Given the description of an element on the screen output the (x, y) to click on. 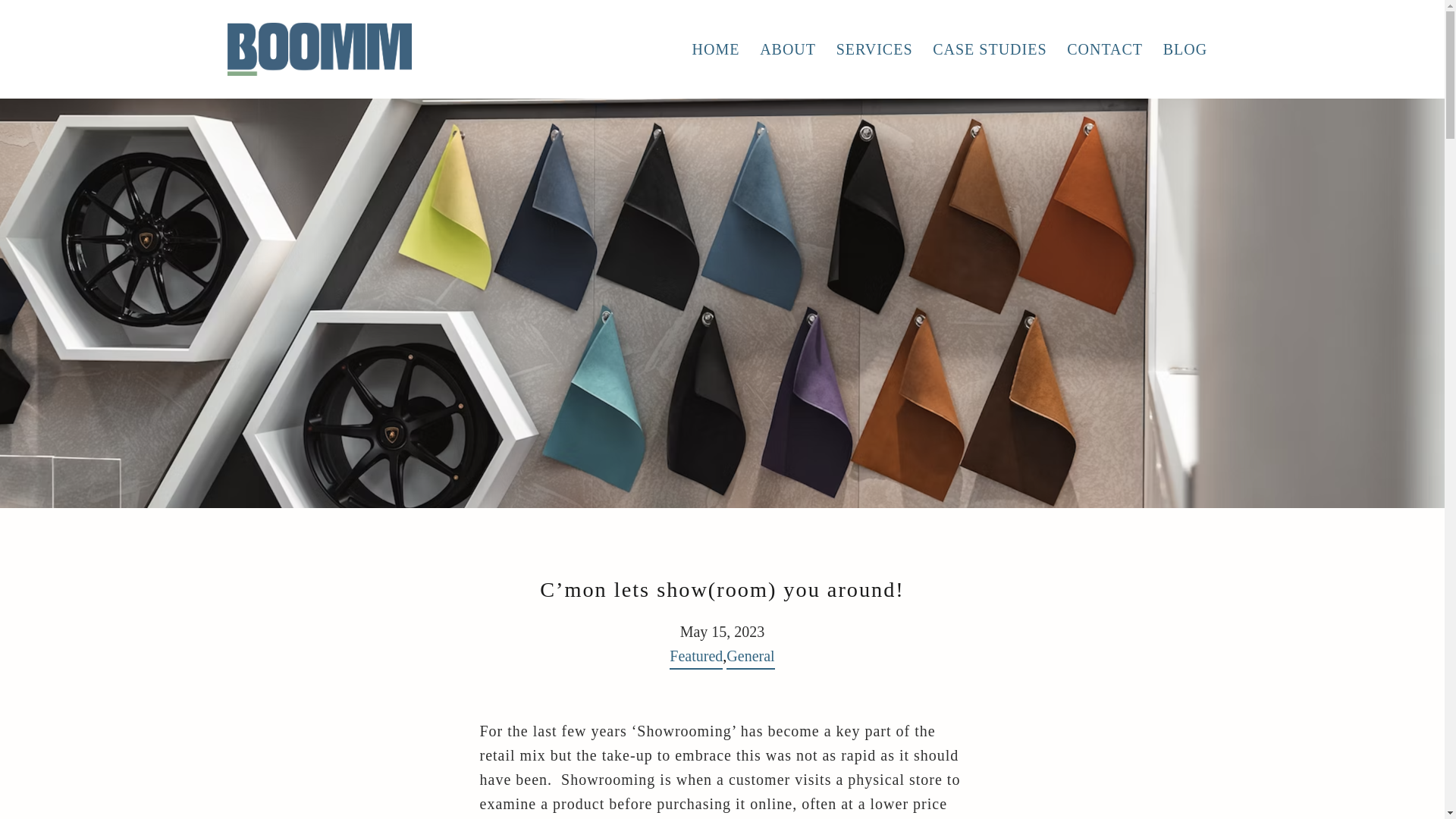
CASE STUDIES (990, 48)
General (750, 658)
CONTACT (1105, 48)
Featured (695, 658)
HOME (715, 48)
BLOG (1185, 48)
SERVICES (874, 48)
ABOUT (788, 48)
